Given the description of an element on the screen output the (x, y) to click on. 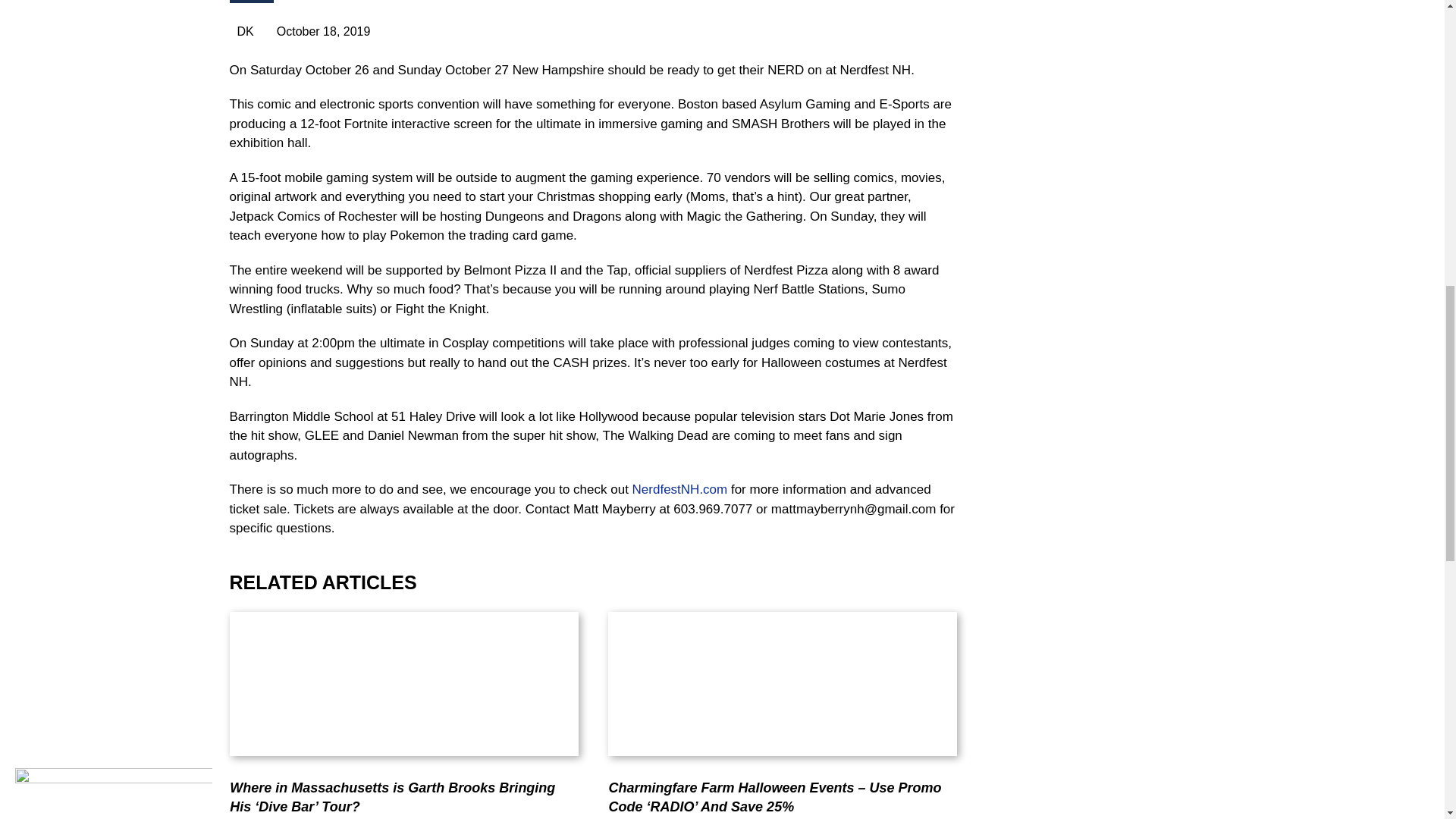
NH1 (250, 1)
NerdfestNH.com (679, 489)
DK (240, 31)
